Given the description of an element on the screen output the (x, y) to click on. 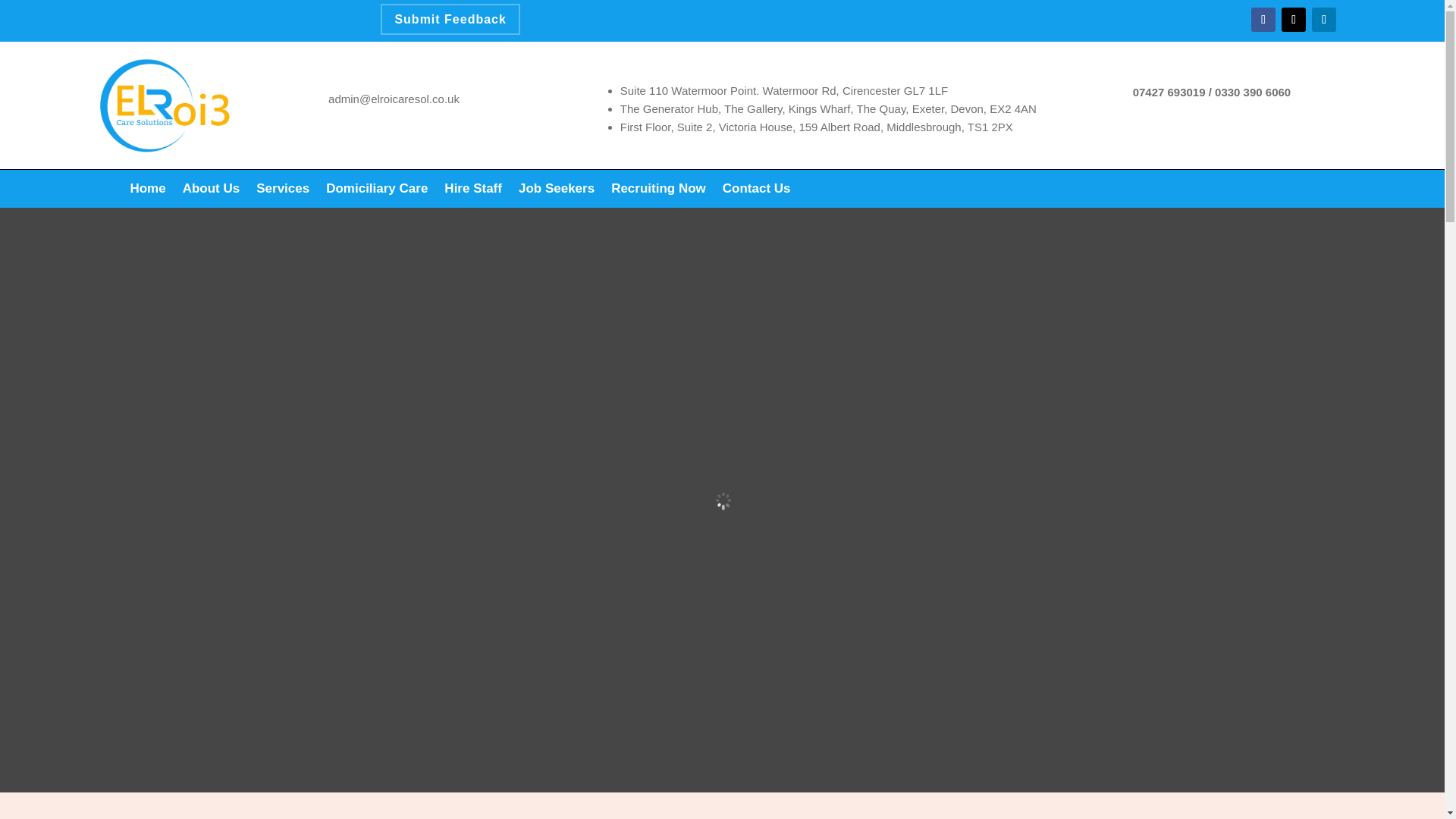
Services (282, 191)
logo (162, 105)
Follow on LinkedIn (1323, 19)
Home (147, 191)
Hire Staff (473, 191)
About Us (211, 191)
Job Seekers (556, 191)
Domiciliary Care (377, 191)
Contact Us (756, 191)
Submit Feedback (449, 19)
